Given the description of an element on the screen output the (x, y) to click on. 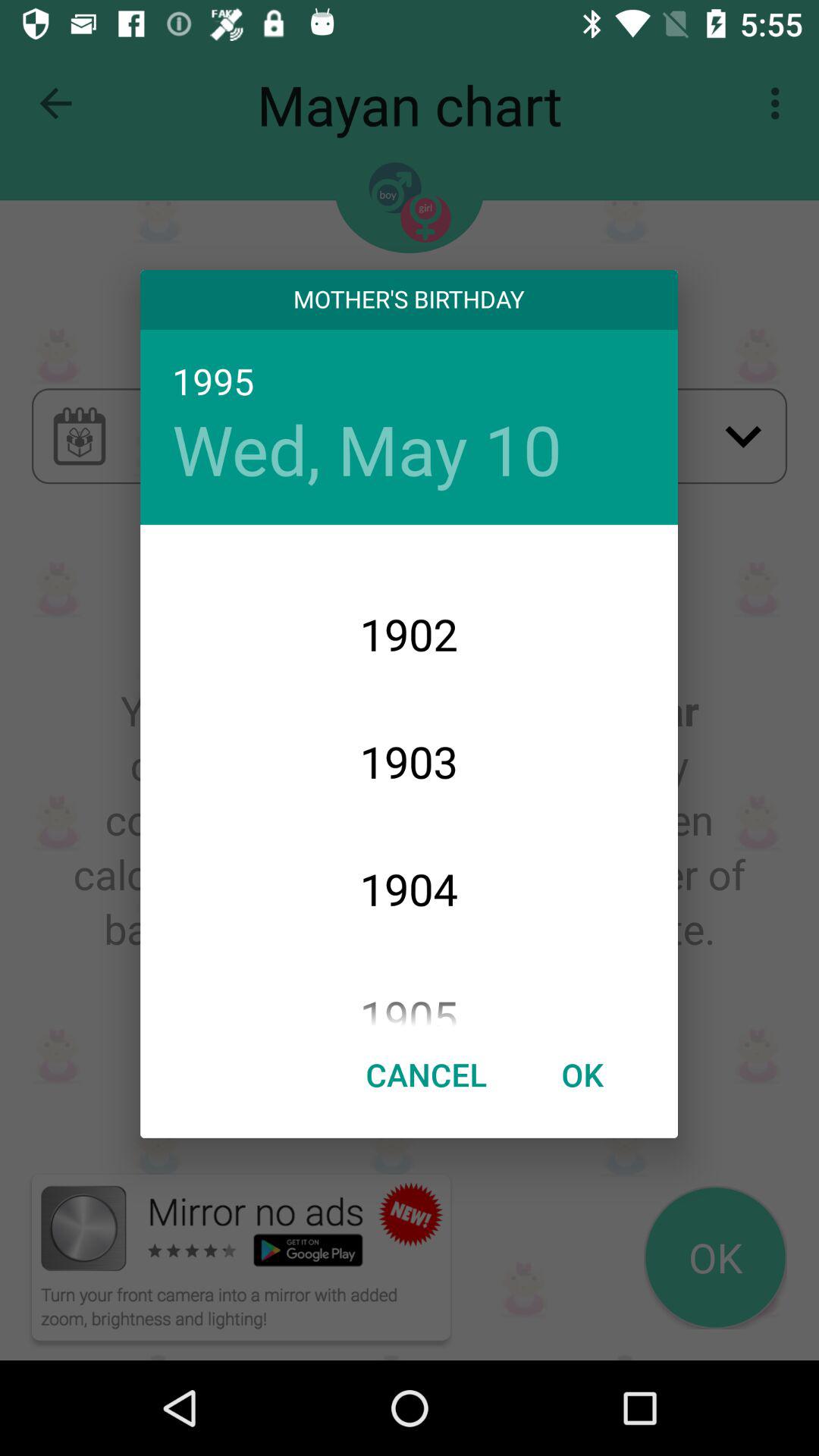
choose icon below the 1905 icon (425, 1074)
